Given the description of an element on the screen output the (x, y) to click on. 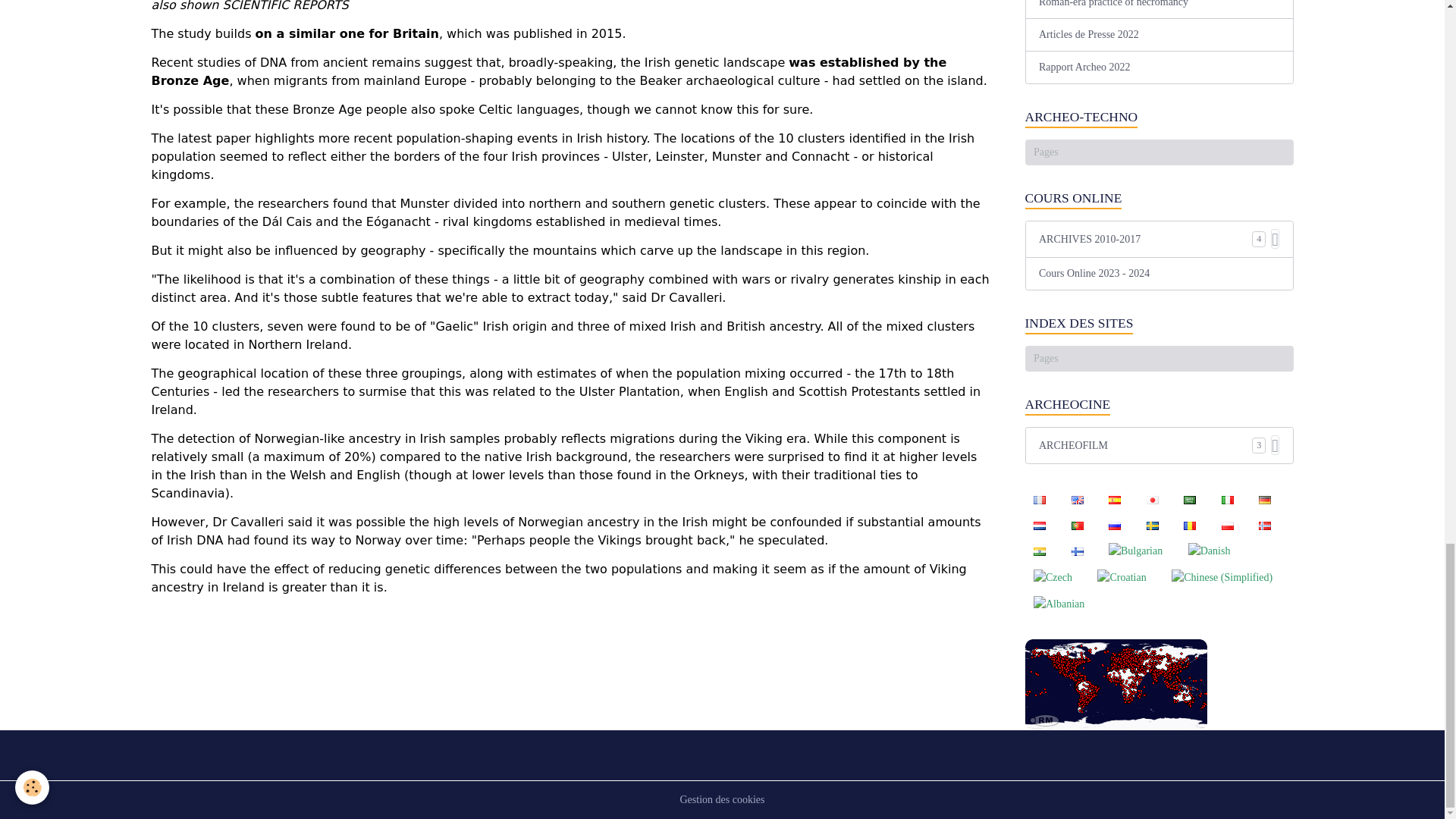
Arabic (1189, 499)
Norwegian (1264, 524)
Portuguesa (1077, 524)
Nederlands (1039, 524)
Swedish (1152, 524)
Danish (1209, 550)
Russian (1114, 524)
was established by the Bronze Age (549, 71)
Polish (1226, 524)
Deutsch (1264, 499)
Finnish (1077, 550)
on a similar one for Britain (347, 34)
English (1077, 499)
Romanian (1189, 524)
Czech (1053, 577)
